Given the description of an element on the screen output the (x, y) to click on. 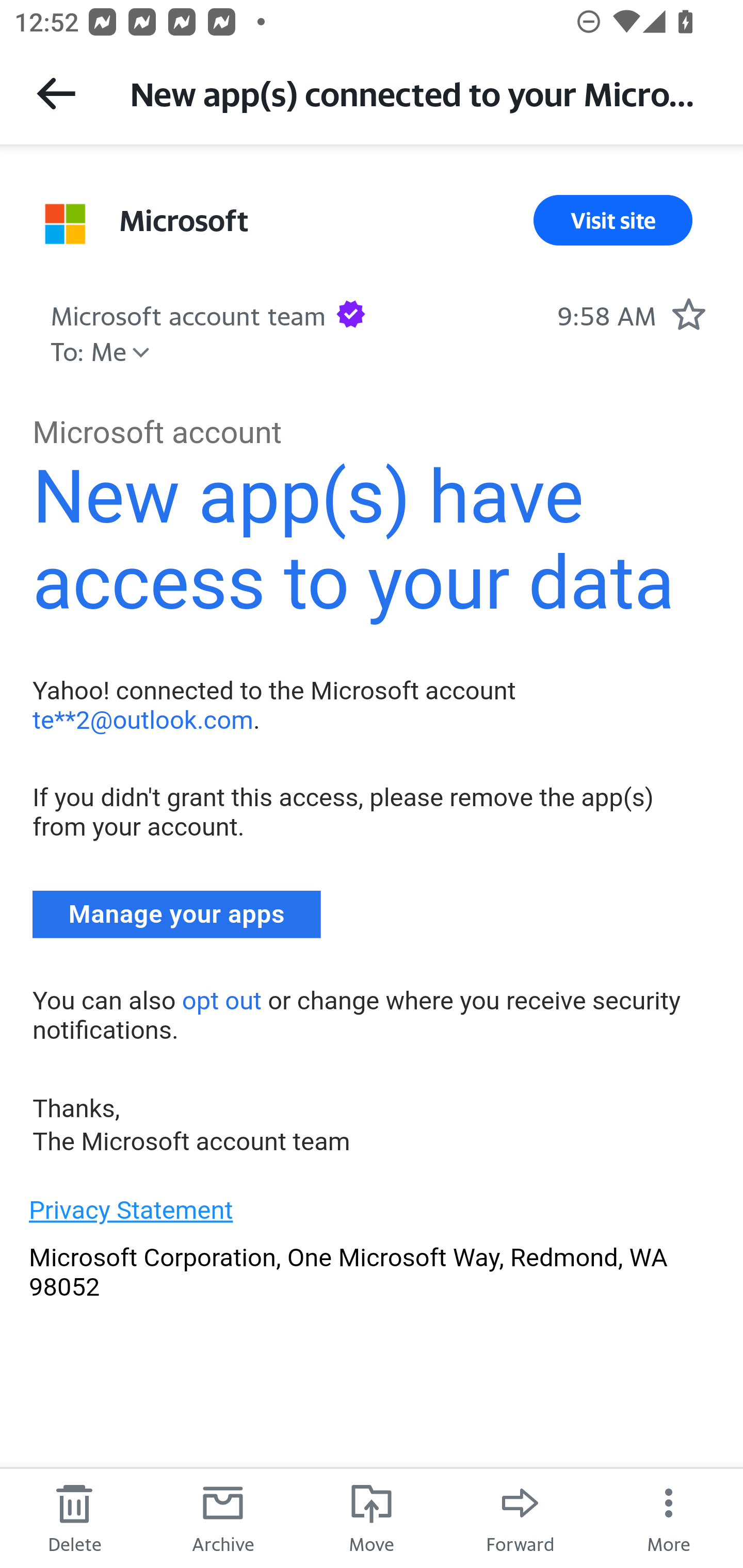
Back (55, 92)
View all messages from sender (64, 223)
Visit site Visit Site Link (612, 220)
Microsoft Sender Microsoft (183, 219)
Mark as starred. (688, 314)
te**2@outlook.com (142, 719)
Manage your apps (177, 913)
opt out (220, 1000)
Privacy Statement (131, 1210)
Delete (74, 1517)
Archive (222, 1517)
Move (371, 1517)
Forward (519, 1517)
More (668, 1517)
